Given the description of an element on the screen output the (x, y) to click on. 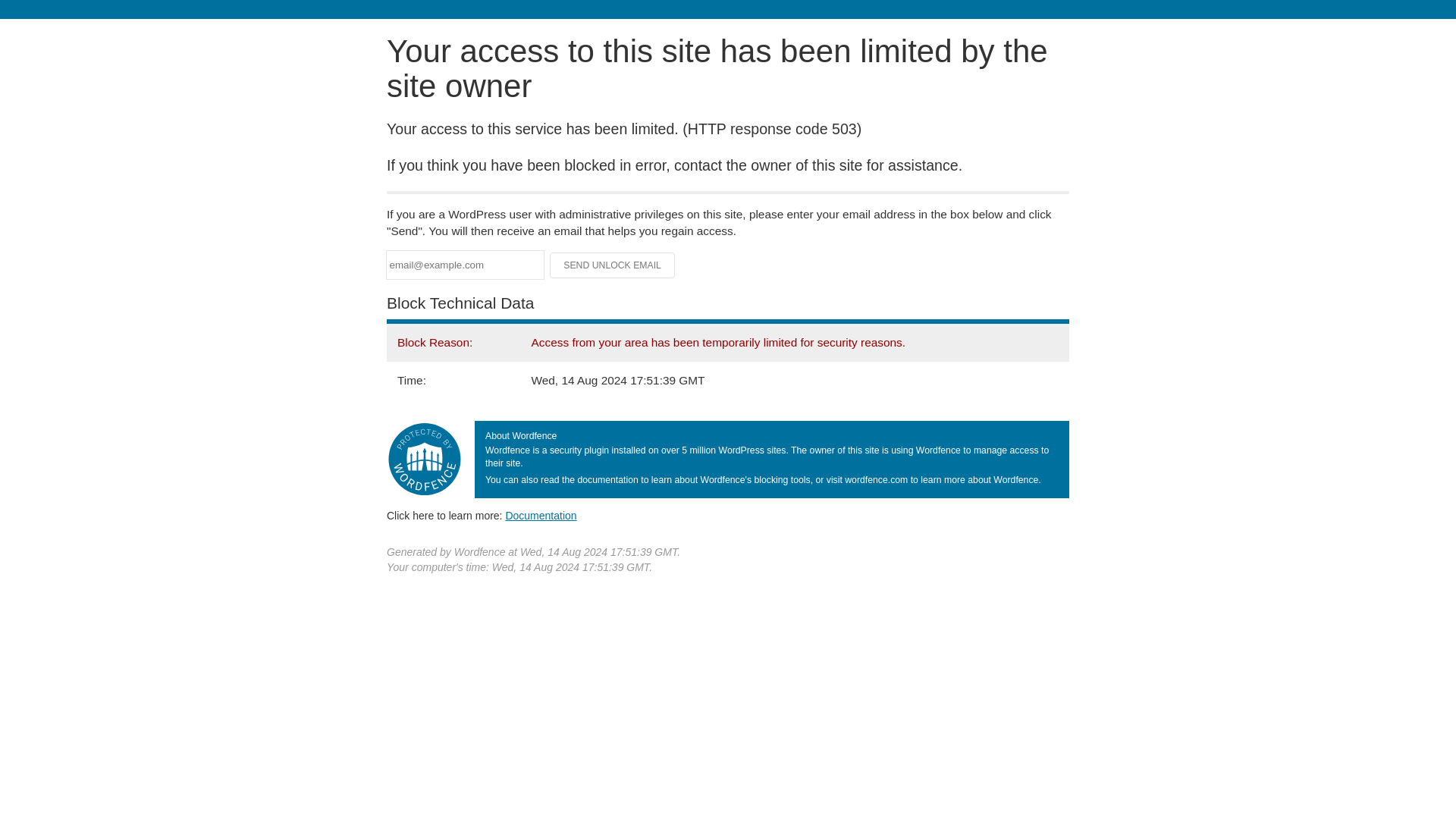
Documentation (540, 515)
Send Unlock Email (612, 265)
Send Unlock Email (612, 265)
